Given the description of an element on the screen output the (x, y) to click on. 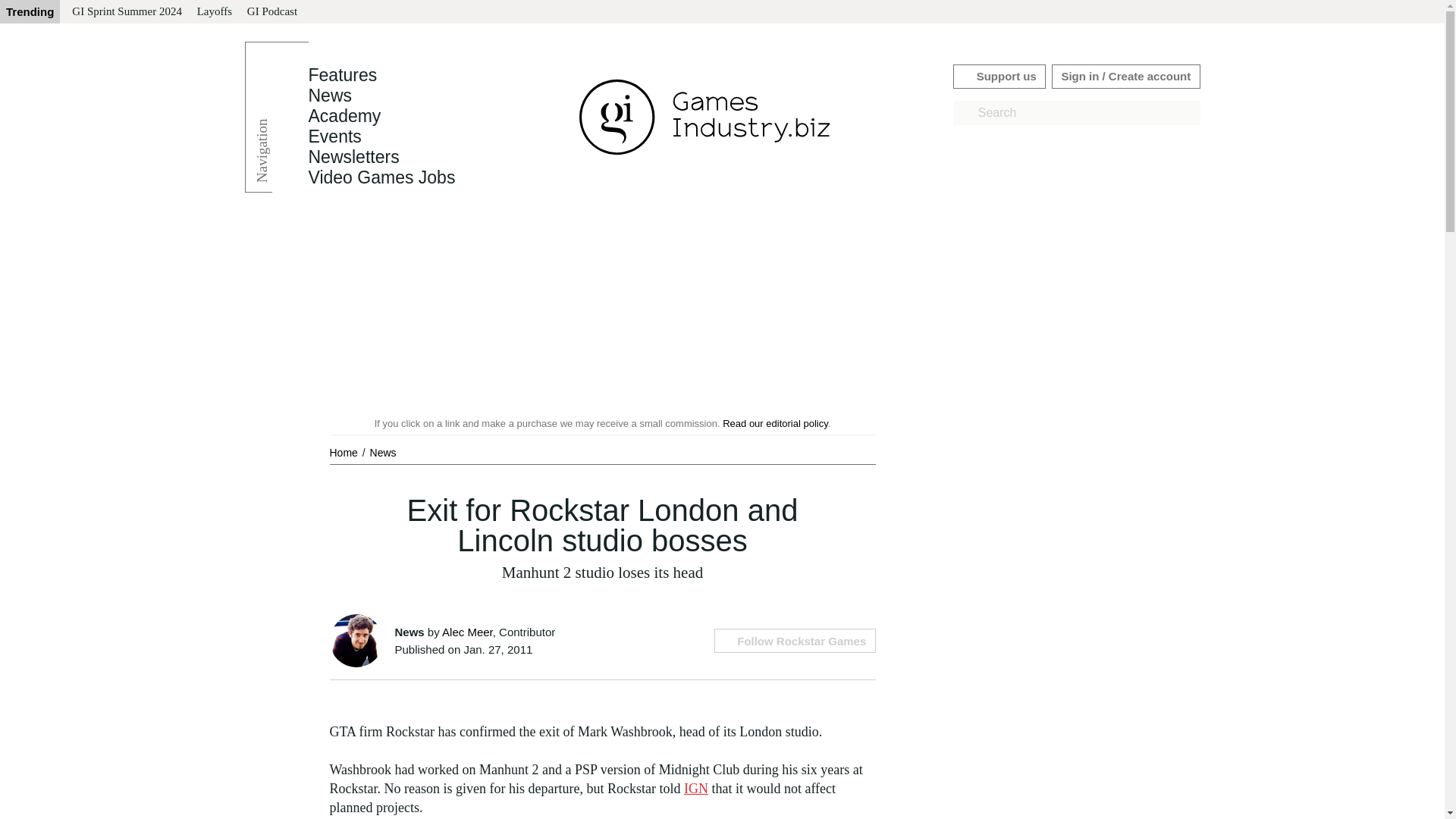
Alec Meer (467, 631)
News (382, 452)
GI Podcast (271, 11)
GI Podcast (271, 11)
Newsletters (352, 157)
IGN (695, 788)
News (329, 95)
News (329, 95)
Support us (999, 75)
Video Games Jobs (380, 177)
News (382, 452)
Newsletters (352, 157)
Video Games Jobs (380, 177)
Follow Rockstar Games (795, 640)
Events (334, 136)
